Given the description of an element on the screen output the (x, y) to click on. 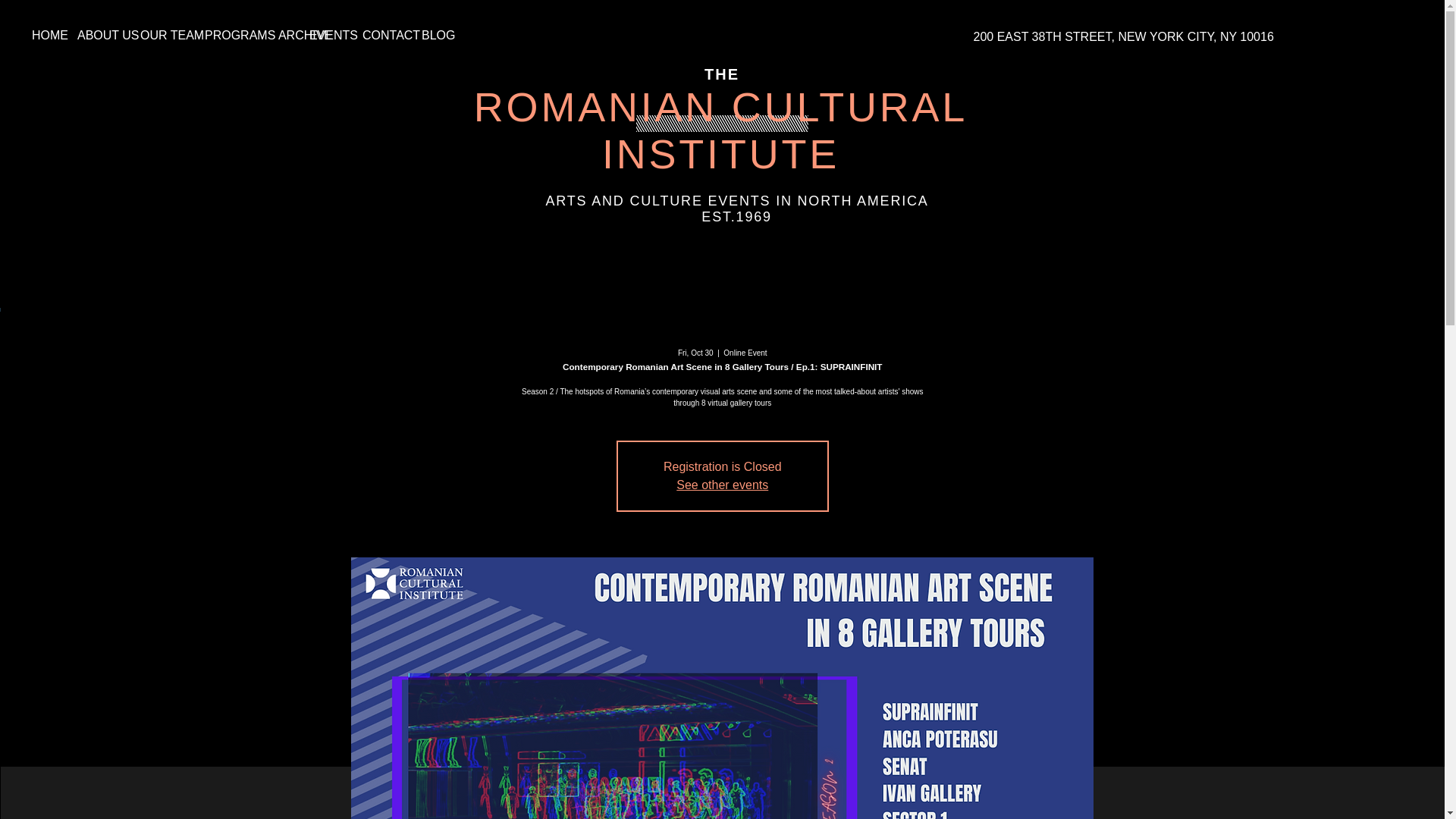
OUR TEAM (161, 35)
PROGRAMS ARCHIVE (245, 35)
HOME (42, 35)
ROMANIAN CULTURAL INSTITUTE (721, 130)
See other events (722, 484)
BLOG (431, 35)
EVENTS (324, 35)
ABOUT US (97, 35)
ARTS AND CULTURE EVENTS IN NORTH AMERICA (737, 200)
CONTACT (380, 35)
THE (721, 74)
200 EAST 38TH STREET, NEW YORK CITY, NY 10016 (1123, 36)
